Given the description of an element on the screen output the (x, y) to click on. 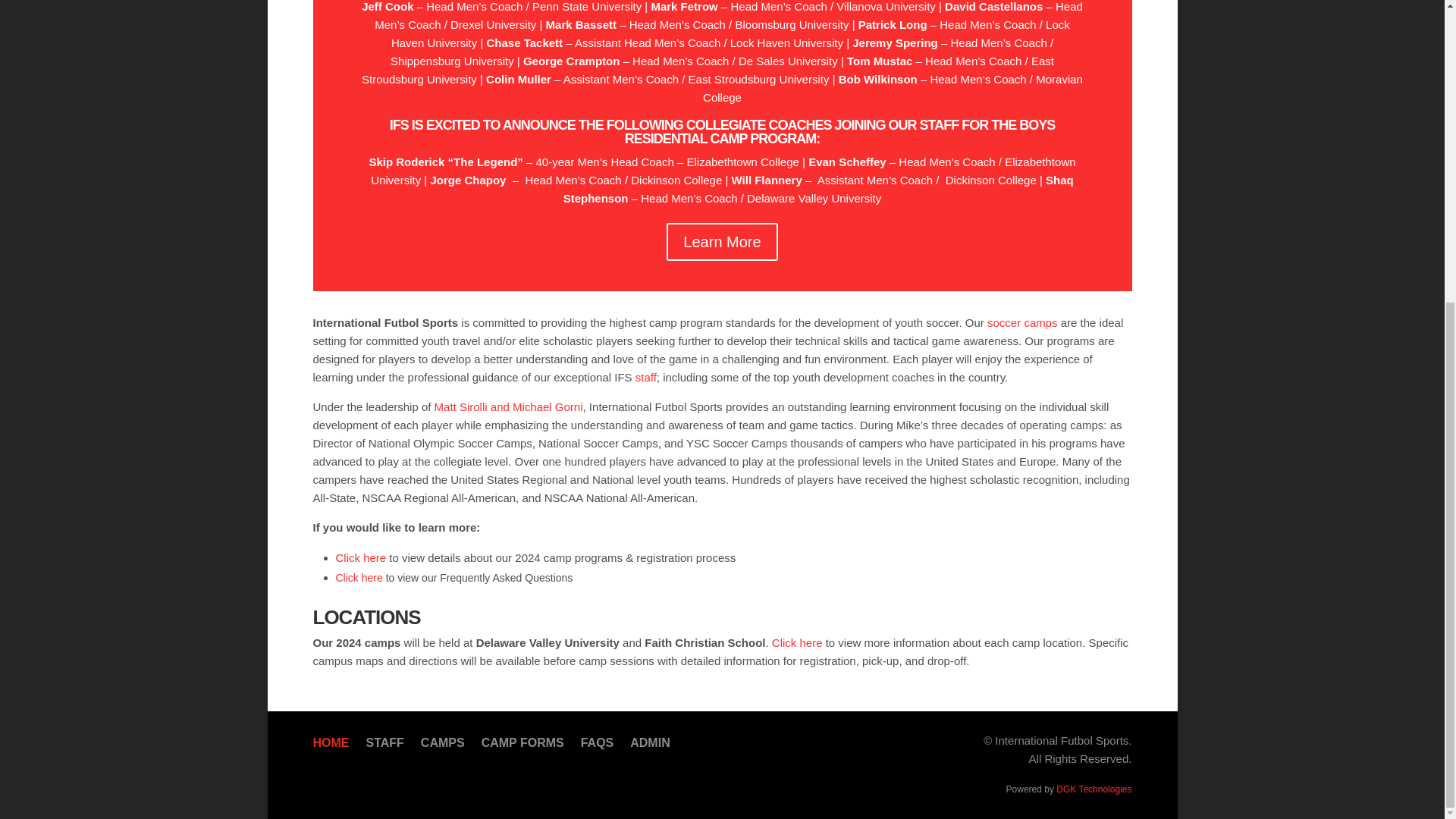
Click here (796, 642)
ADMIN (649, 745)
Click here (359, 557)
Learn More (721, 241)
CAMP FORMS (522, 745)
Click here (357, 577)
FAQS (597, 745)
staff (645, 377)
STAFF (384, 745)
HOME (331, 745)
